Given the description of an element on the screen output the (x, y) to click on. 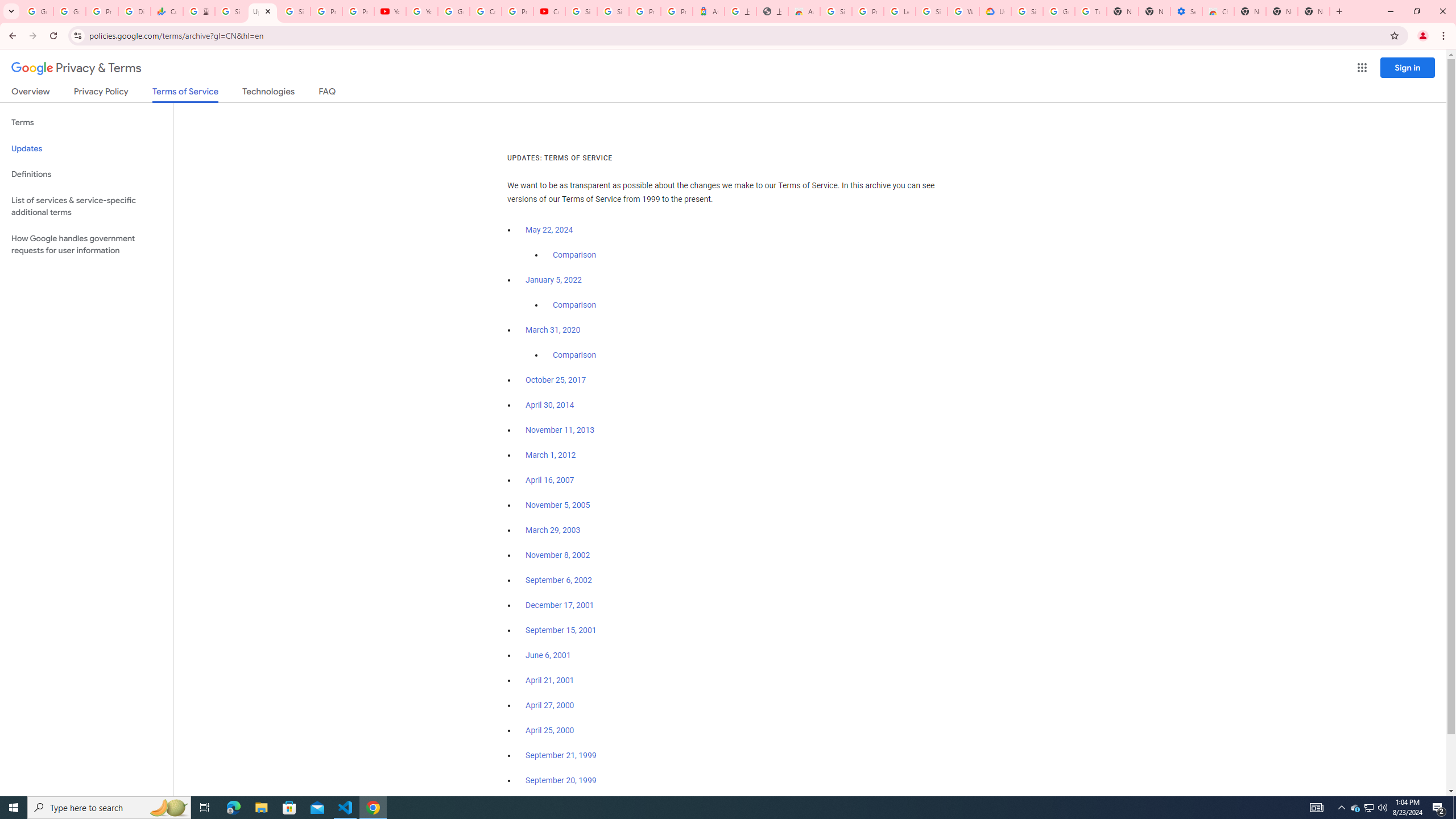
Awesome Screen Recorder & Screenshot - Chrome Web Store (804, 11)
March 29, 2003 (552, 530)
New Tab (1249, 11)
How Google handles government requests for user information (86, 244)
Who are Google's partners? - Privacy and conditions - Google (963, 11)
